Given the description of an element on the screen output the (x, y) to click on. 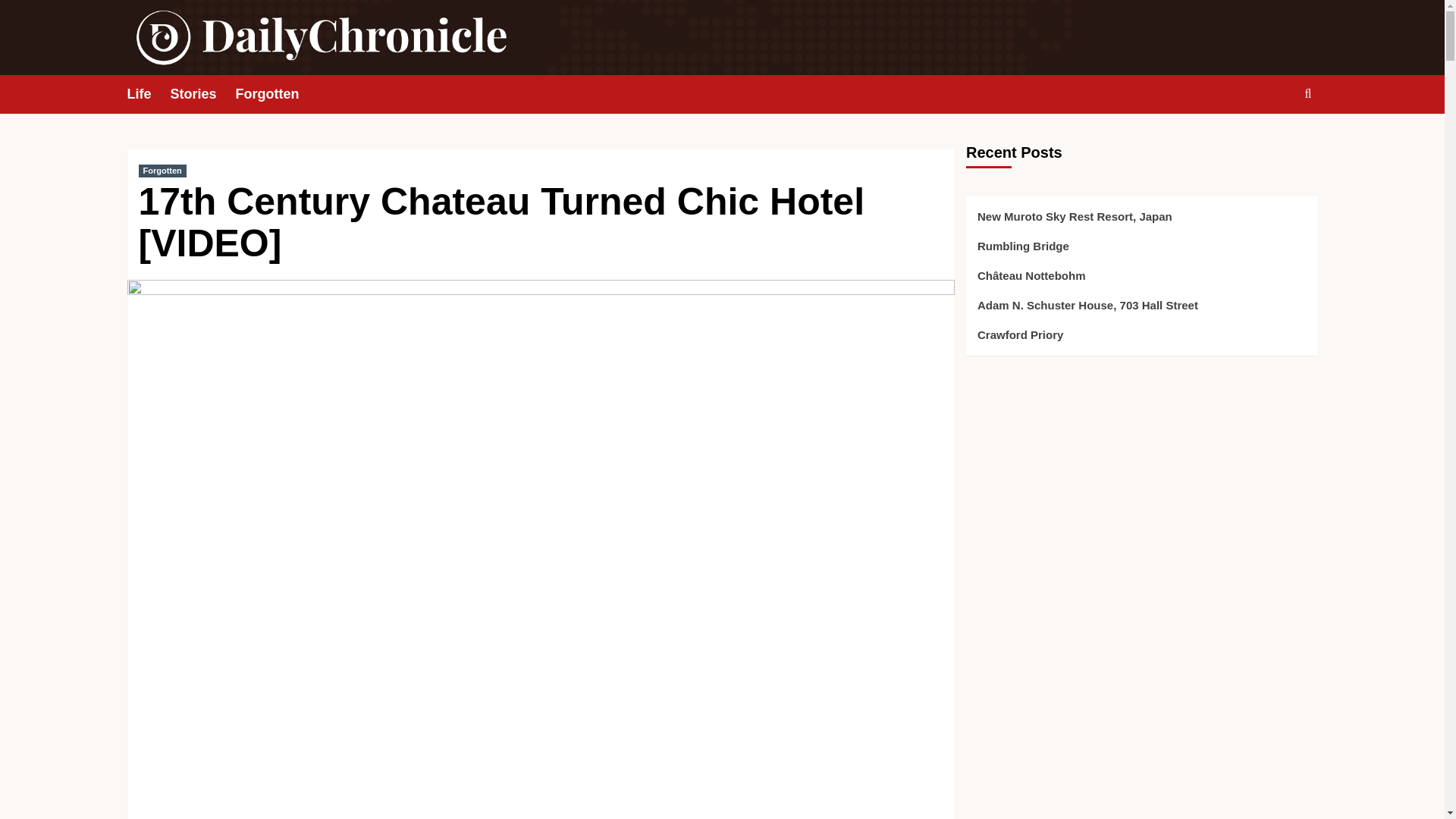
Stories (202, 94)
Forgotten (276, 94)
New Muroto Sky Rest Resort, Japan (1141, 222)
Search (1272, 140)
Forgotten (162, 170)
Crawford Priory (1141, 334)
Adam N. Schuster House, 703 Hall Street (1141, 310)
Rumbling Bridge (1141, 251)
Life (149, 94)
